Given the description of an element on the screen output the (x, y) to click on. 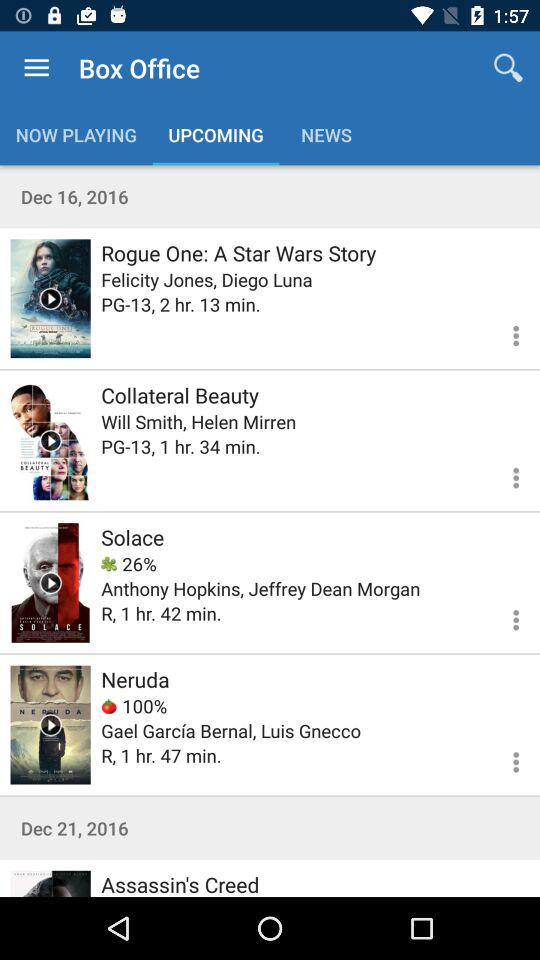
view details (503, 759)
